Given the description of an element on the screen output the (x, y) to click on. 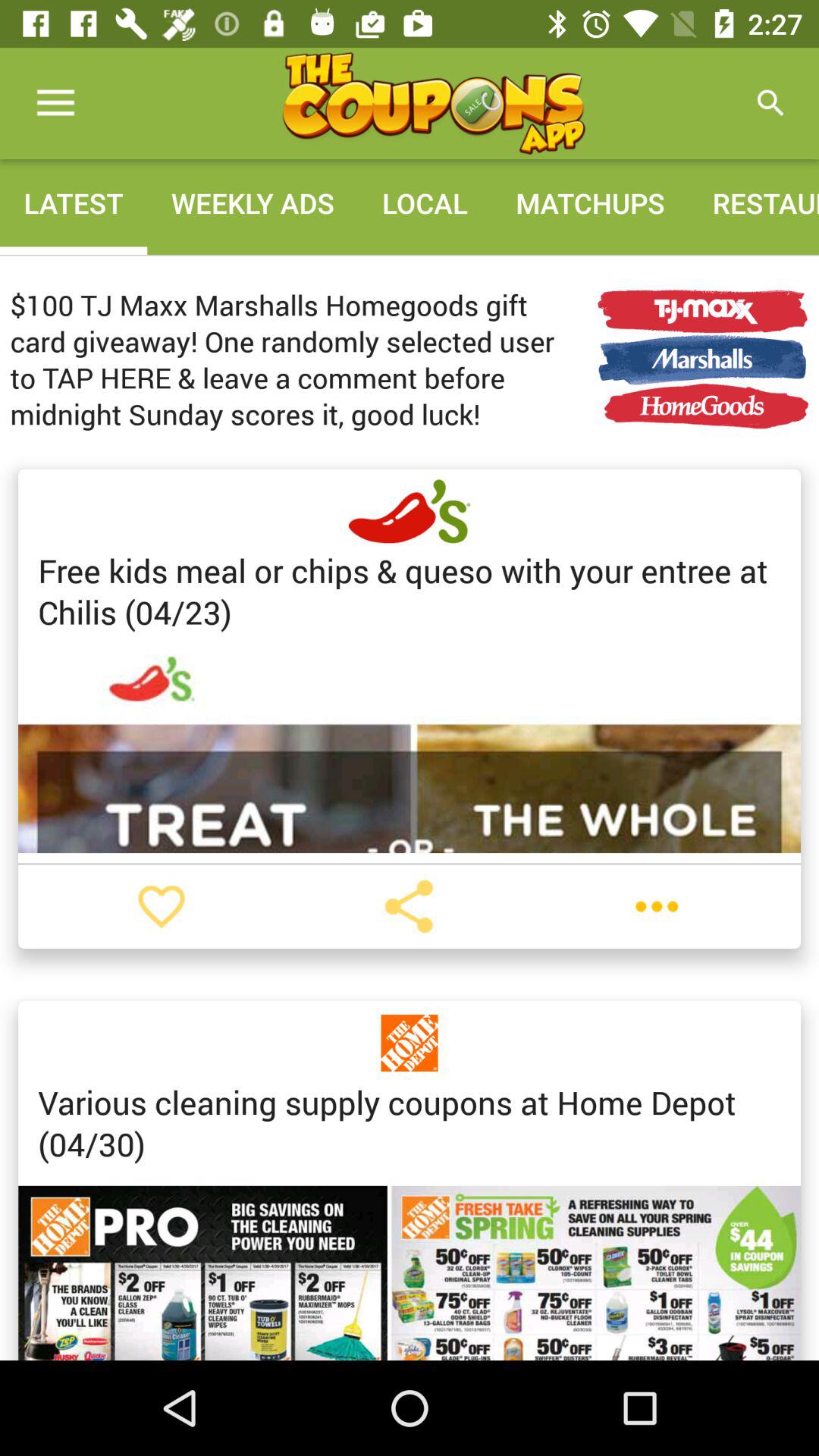
more options (656, 906)
